Given the description of an element on the screen output the (x, y) to click on. 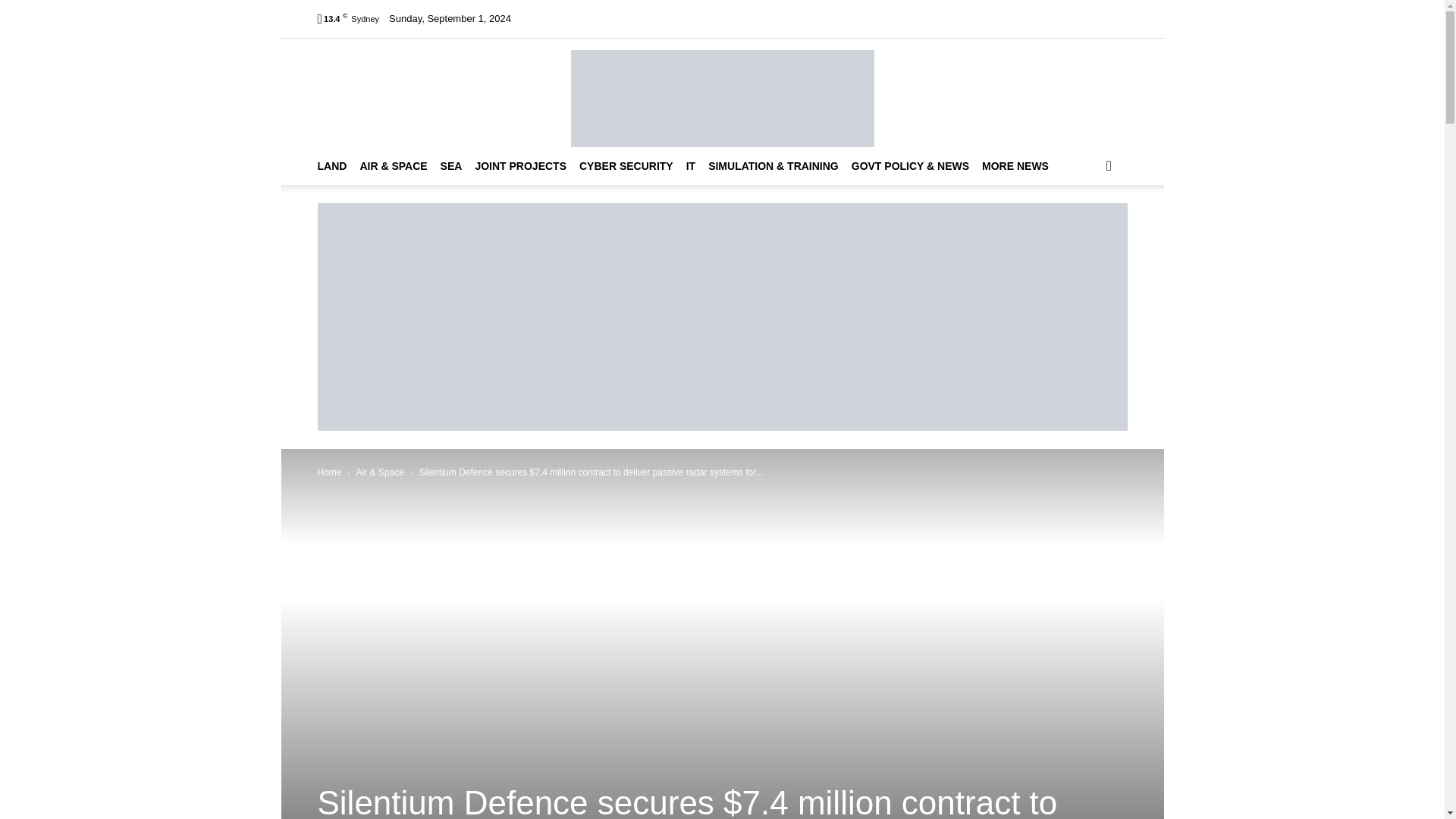
About (586, 18)
Events Calendar (647, 18)
Advertising (884, 18)
Contact (938, 18)
APDR (721, 92)
Subscribe (825, 18)
Videos (711, 18)
Home (548, 18)
Back Issues (765, 18)
SEA (458, 166)
